Given the description of an element on the screen output the (x, y) to click on. 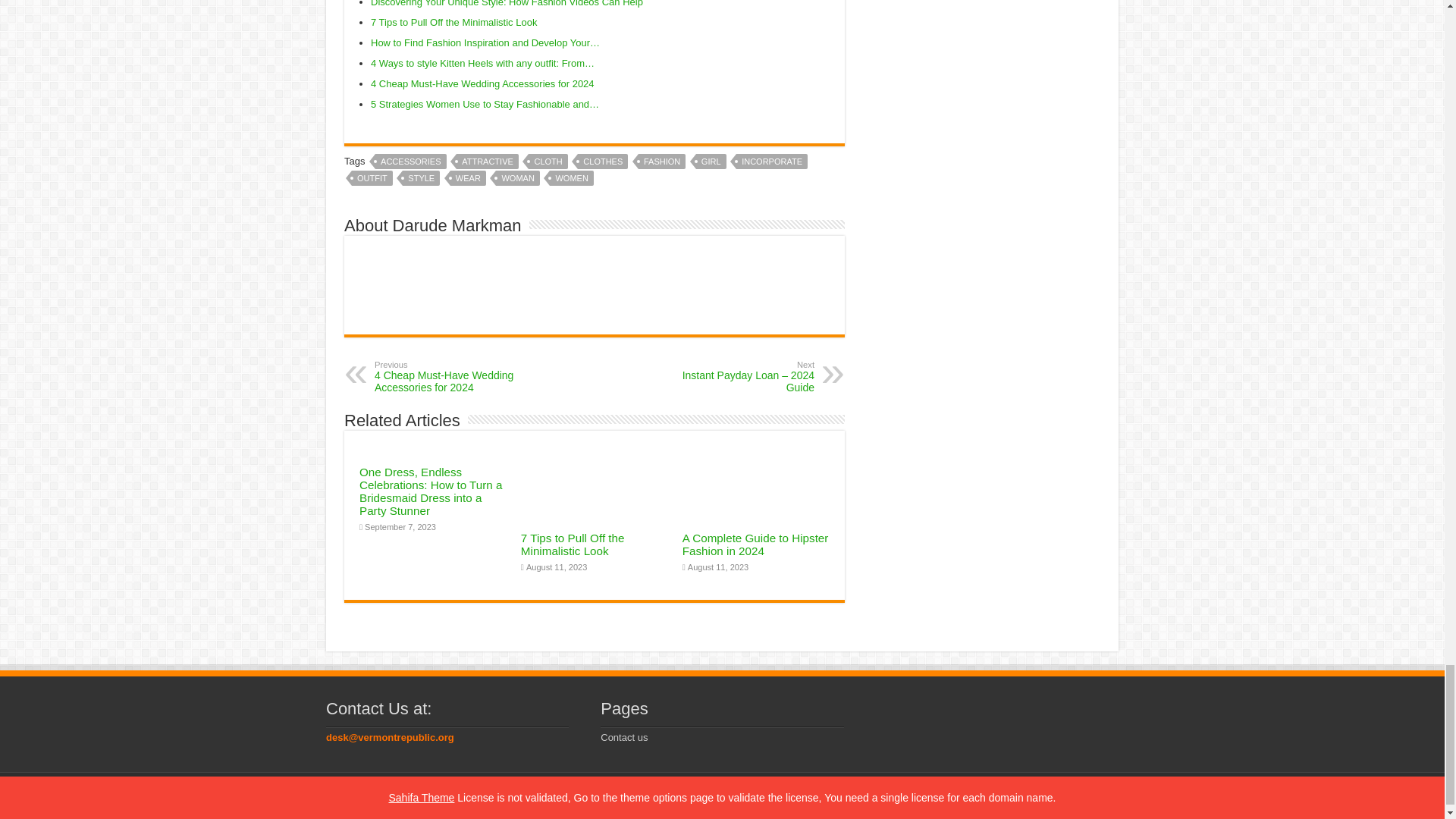
ACCESSORIES (410, 160)
ATTRACTIVE (487, 160)
CLOTHES (602, 160)
7 Tips to Pull Off the Minimalistic Look (454, 21)
GIRL (710, 160)
FASHION (662, 160)
Discovering Your Unique Style: How Fashion Videos Can Help (507, 3)
CLOTH (547, 160)
4 Cheap Must-Have Wedding Accessories for 2024 (482, 83)
